Given the description of an element on the screen output the (x, y) to click on. 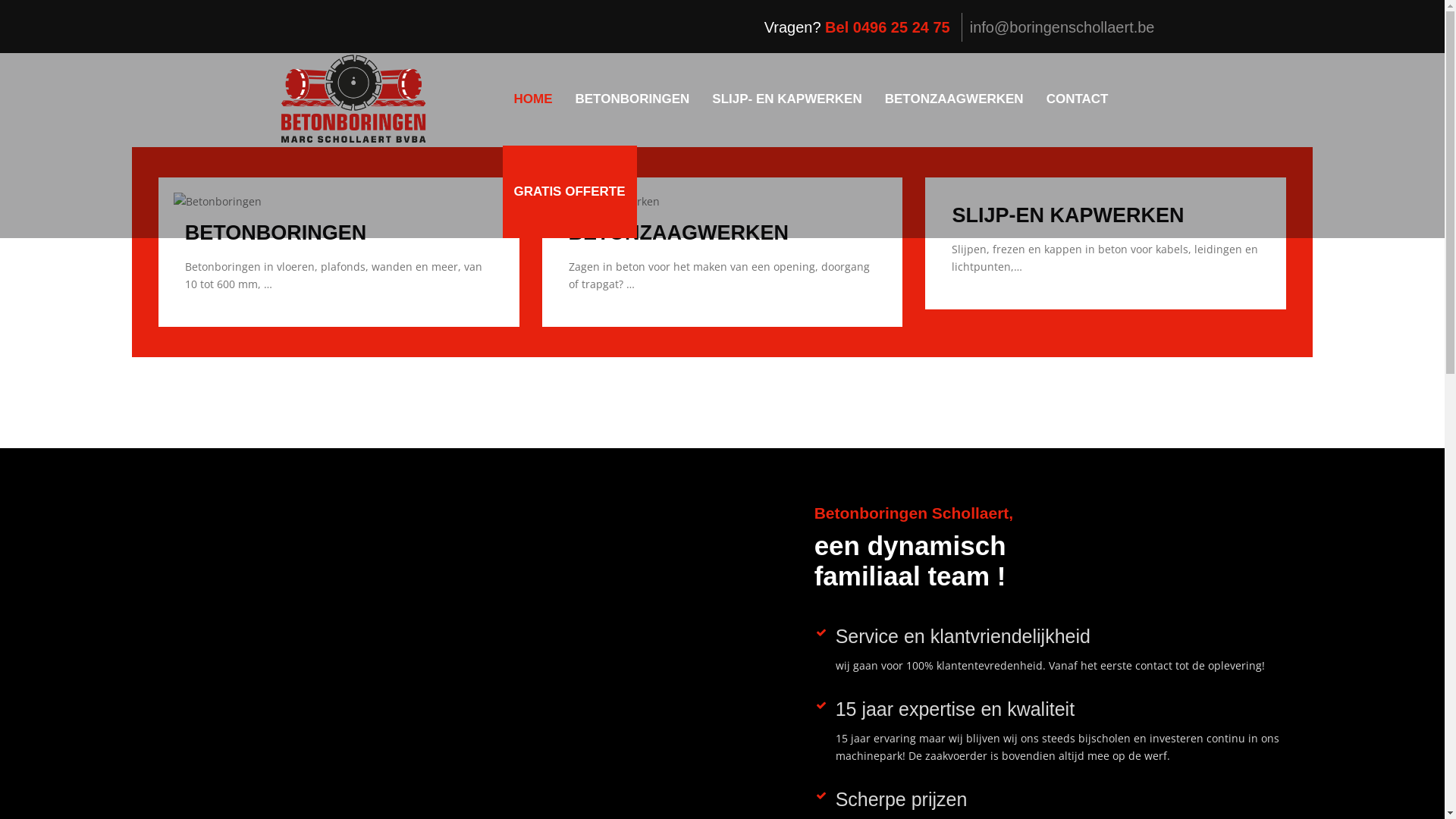
SLIJP-EN KAPWERKEN Element type: text (1067, 214)
CONTACT Element type: text (1077, 99)
info@boringenschollaert.be Element type: text (1061, 26)
BETONBORINGEN Element type: text (276, 232)
Bel 0496 25 24 75 Element type: text (887, 26)
BETONZAAGWERKEN Element type: text (678, 232)
SLIJP- EN KAPWERKEN Element type: text (786, 99)
BETONBORINGEN Element type: text (632, 99)
HOME Element type: text (532, 99)
GRATIS OFFERTE Element type: text (569, 191)
BETONZAAGWERKEN Element type: text (954, 99)
